Given the description of an element on the screen output the (x, y) to click on. 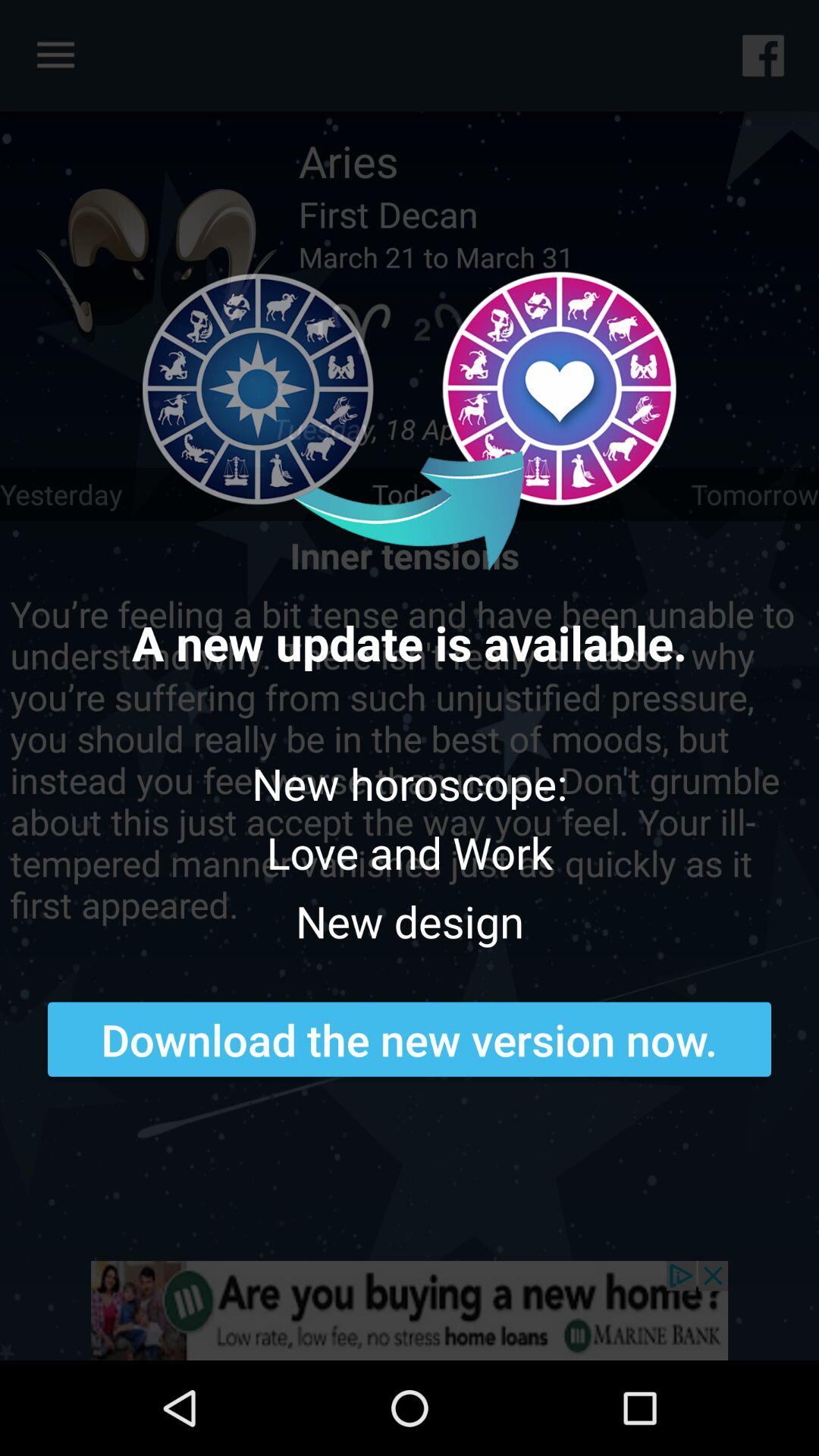
open download the new (409, 1039)
